Given the description of an element on the screen output the (x, y) to click on. 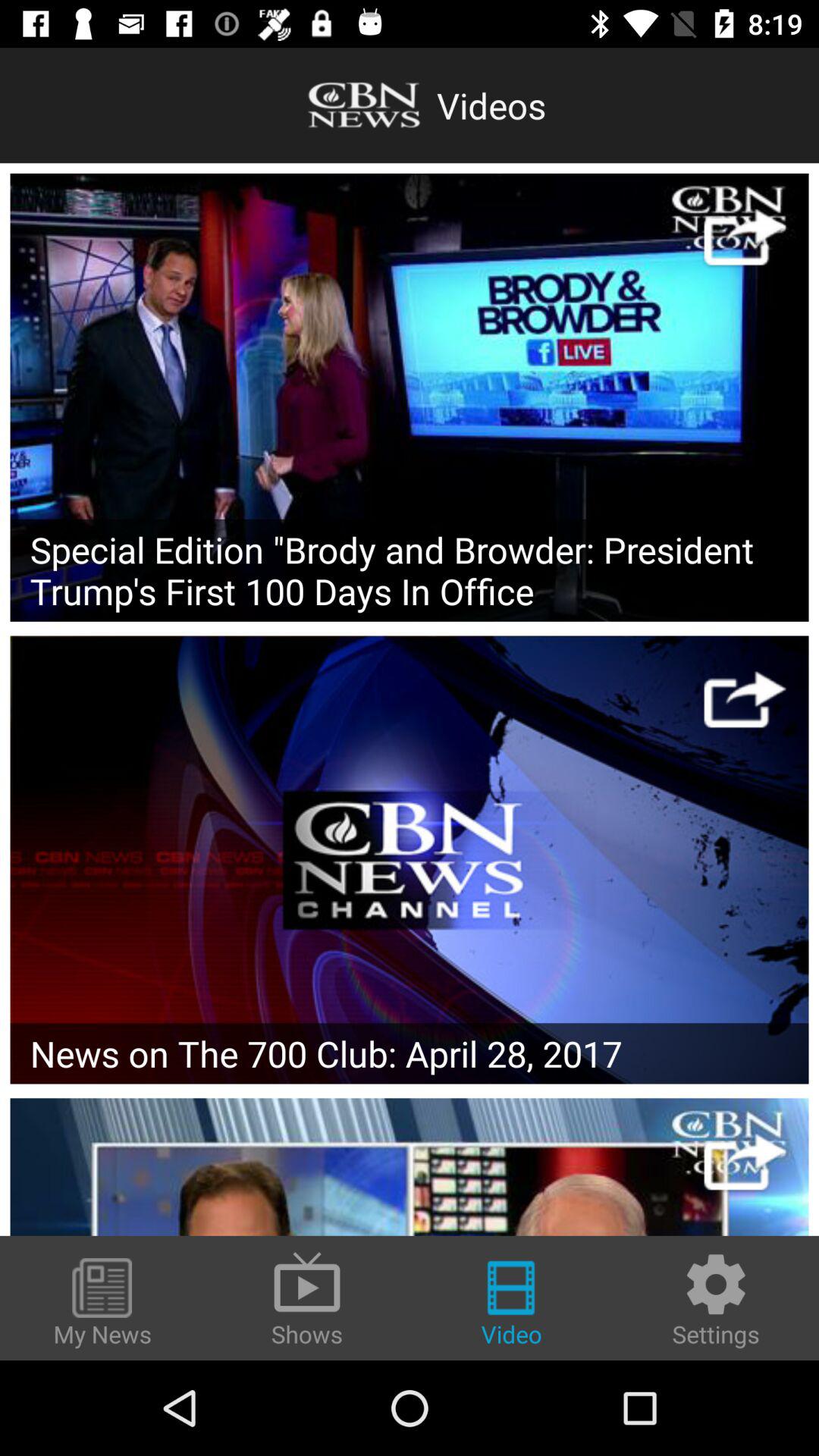
press icon to the left of the shows (102, 1304)
